Given the description of an element on the screen output the (x, y) to click on. 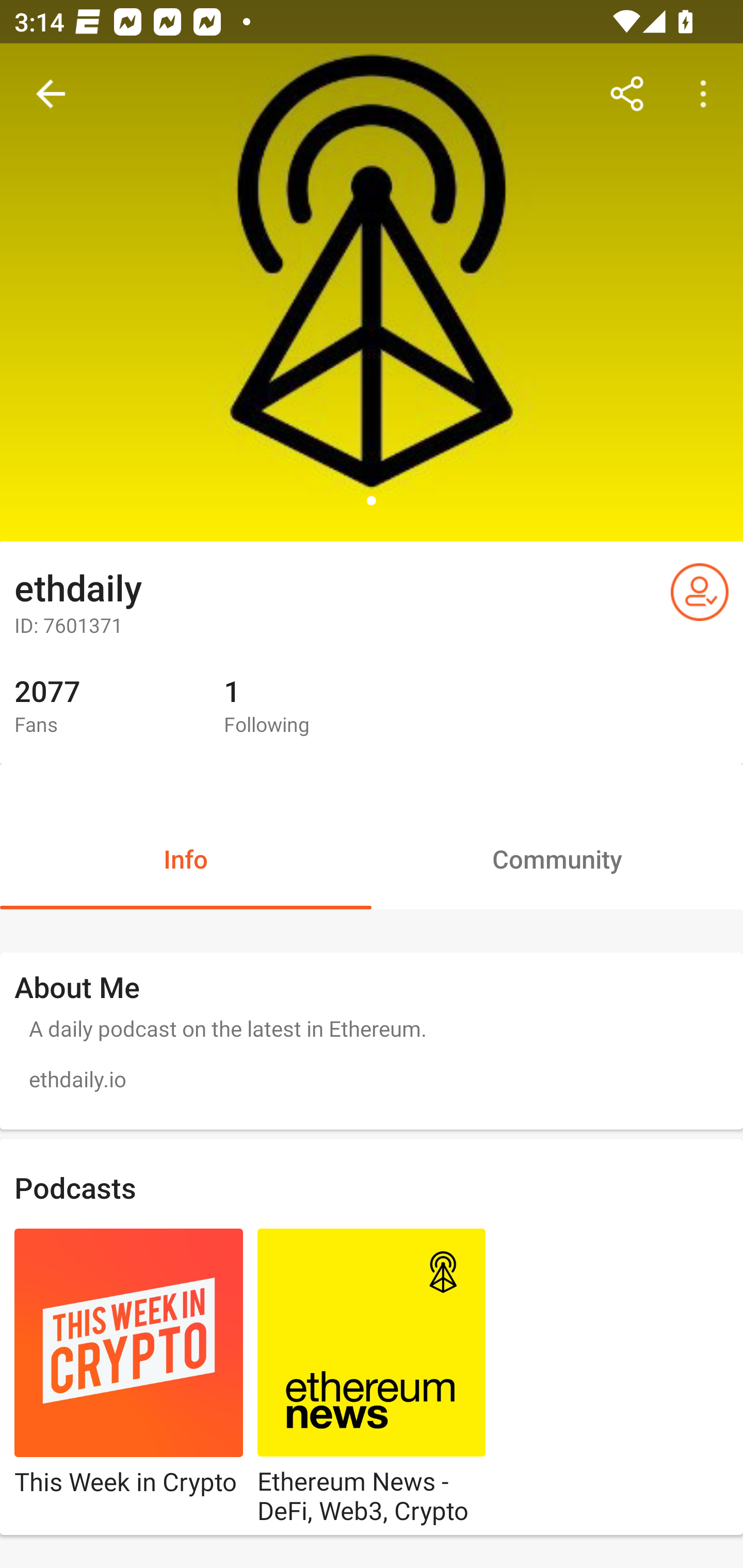
Navigate up (50, 93)
Share (626, 93)
More options (706, 93)
2077 Fans (104, 707)
1 Following (313, 707)
Info (185, 858)
Community (557, 858)
This Week in Crypto (128, 1378)
Ethereum News - DeFi, Web3, Crypto (371, 1378)
